Given the description of an element on the screen output the (x, y) to click on. 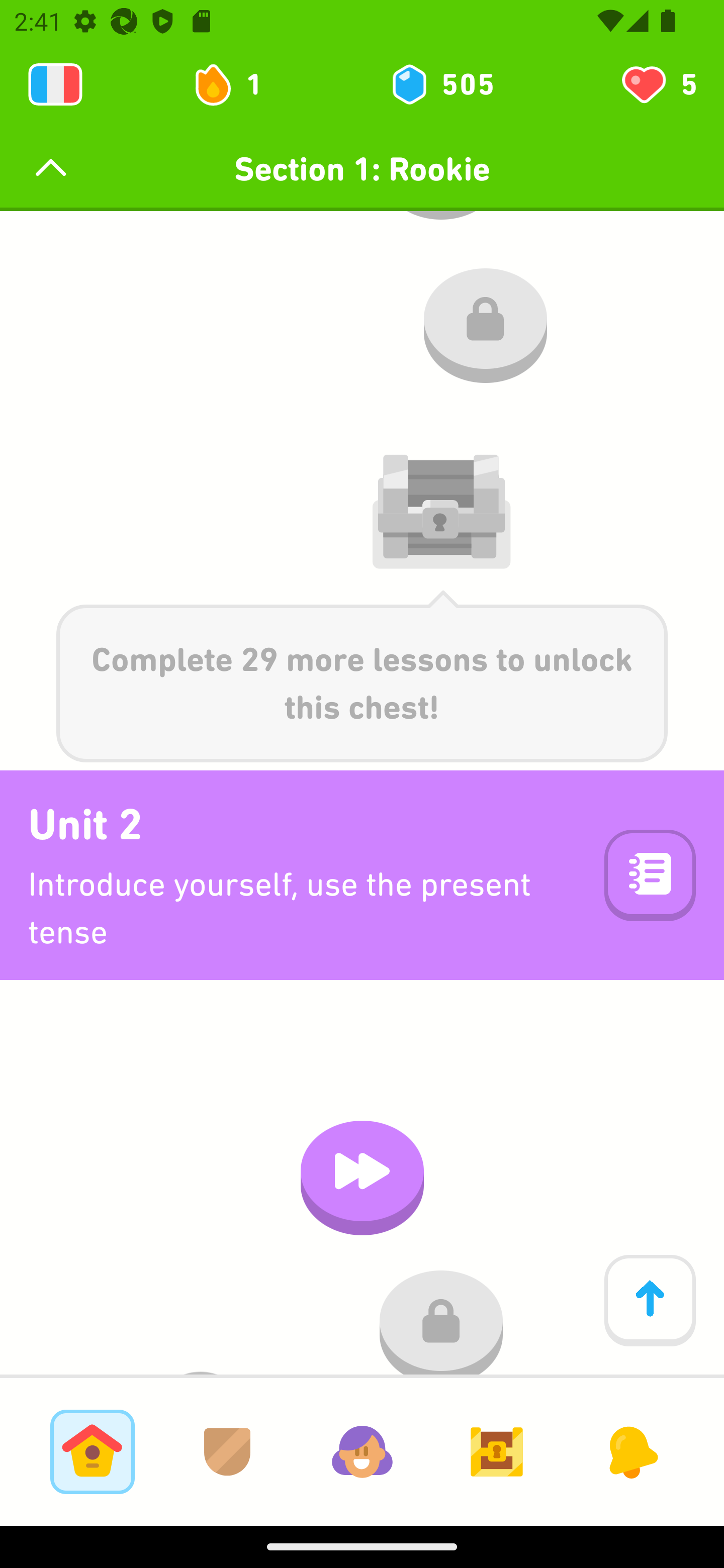
Learning 2131888976 (55, 84)
1 day streak 1 (236, 84)
505 (441, 84)
You have 5 hearts left 5 (657, 84)
Section 1: Rookie (362, 169)
Complete 29 more lessons to unlock this chest! (361, 676)
Learn Tab (91, 1451)
Leagues Tab (227, 1451)
Profile Tab (361, 1451)
Goals Tab (496, 1451)
News Tab (631, 1451)
